Given the description of an element on the screen output the (x, y) to click on. 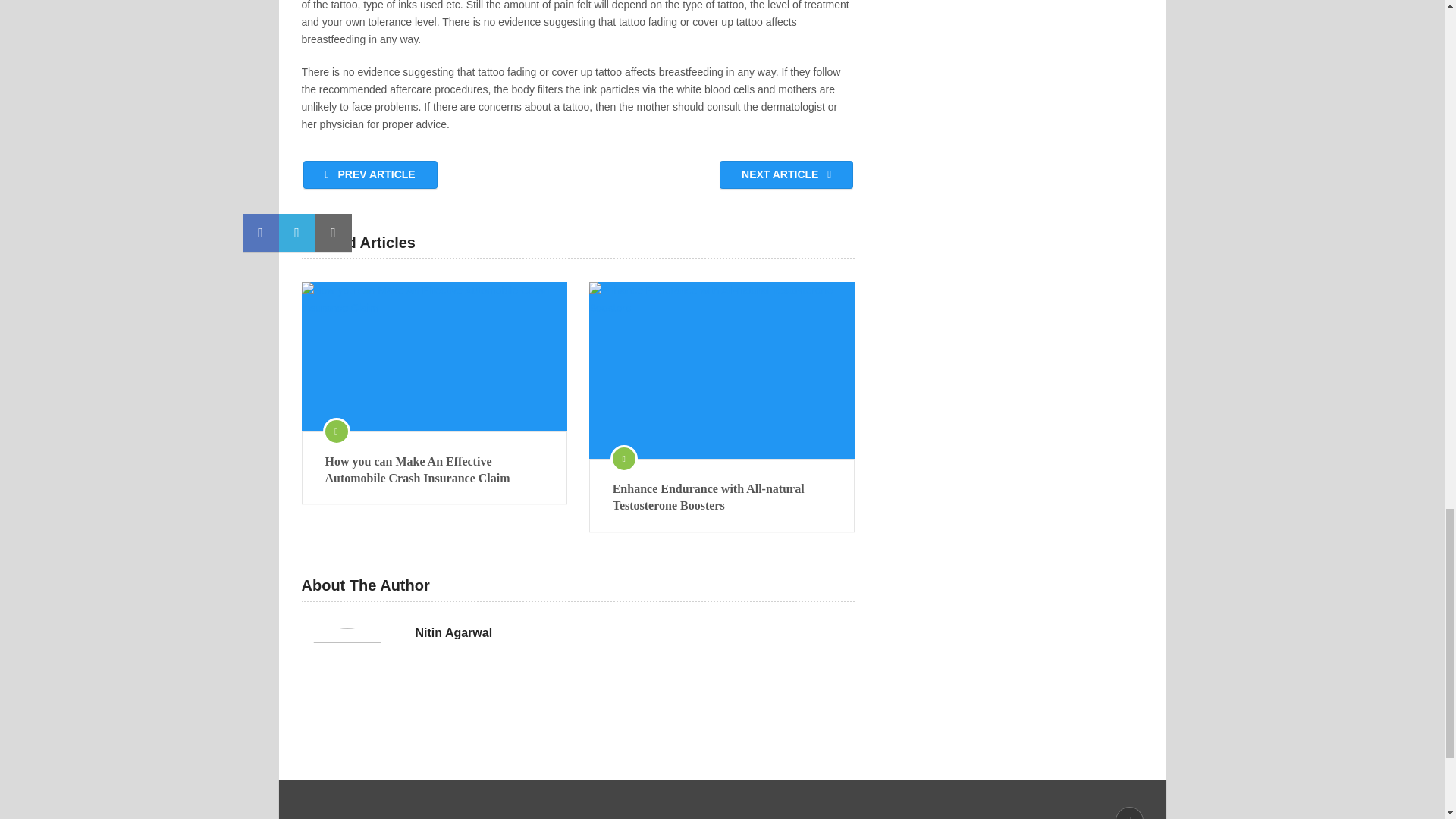
Enhance Endurance with All-natural Testosterone Boosters (721, 497)
PREV ARTICLE (370, 174)
Nitin Agarwal (453, 632)
NEXT ARTICLE (786, 174)
Enhance Endurance with All-natural Testosterone Boosters (721, 369)
Enhance Endurance with All-natural Testosterone Boosters (721, 497)
